Given the description of an element on the screen output the (x, y) to click on. 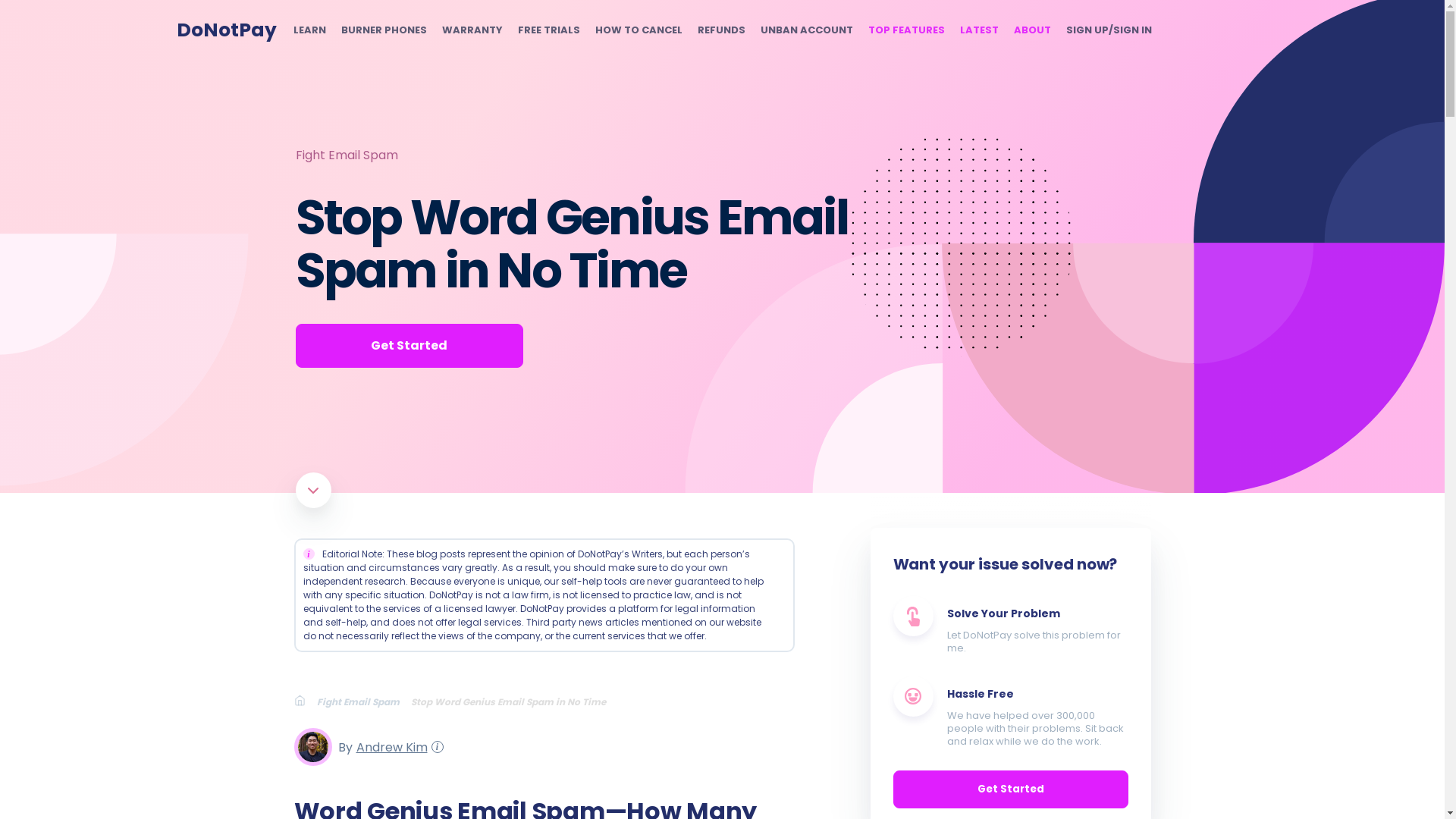
UNBAN ACCOUNT (805, 29)
ABOUT (1031, 29)
REFUNDS (721, 29)
HOW TO CANCEL (637, 29)
Get Started (408, 345)
BURNER PHONES (383, 29)
FREE TRIALS (547, 29)
LEARN (308, 29)
Andrew Kim (389, 746)
Fight Email Spam (363, 700)
